Given the description of an element on the screen output the (x, y) to click on. 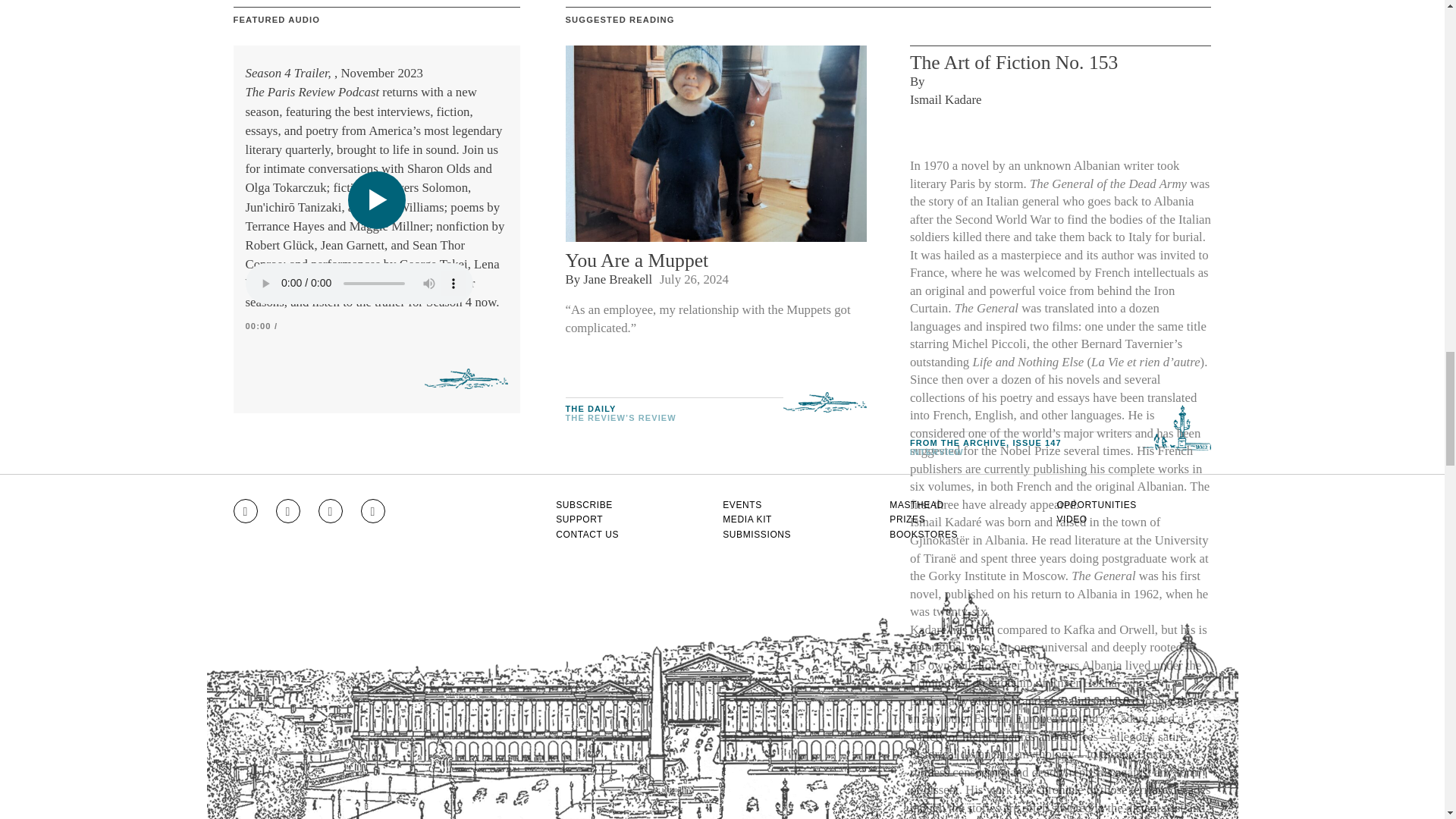
Go to Twitter feed (330, 510)
Go to Instagram feed (244, 510)
Go to Facebook page (287, 510)
Go to RSS feed (373, 510)
